Given the description of an element on the screen output the (x, y) to click on. 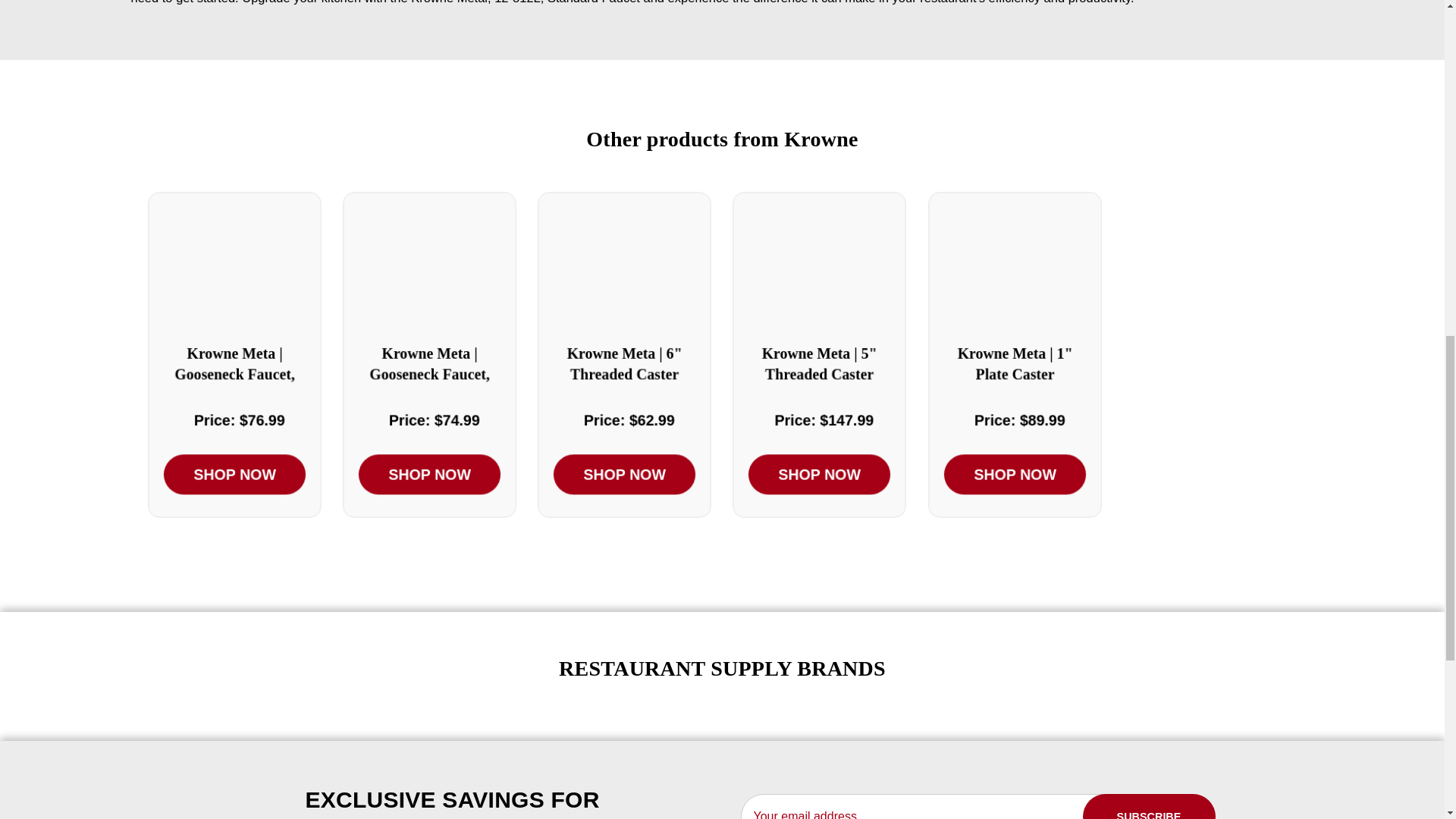
Subscribe (1149, 806)
